Given the description of an element on the screen output the (x, y) to click on. 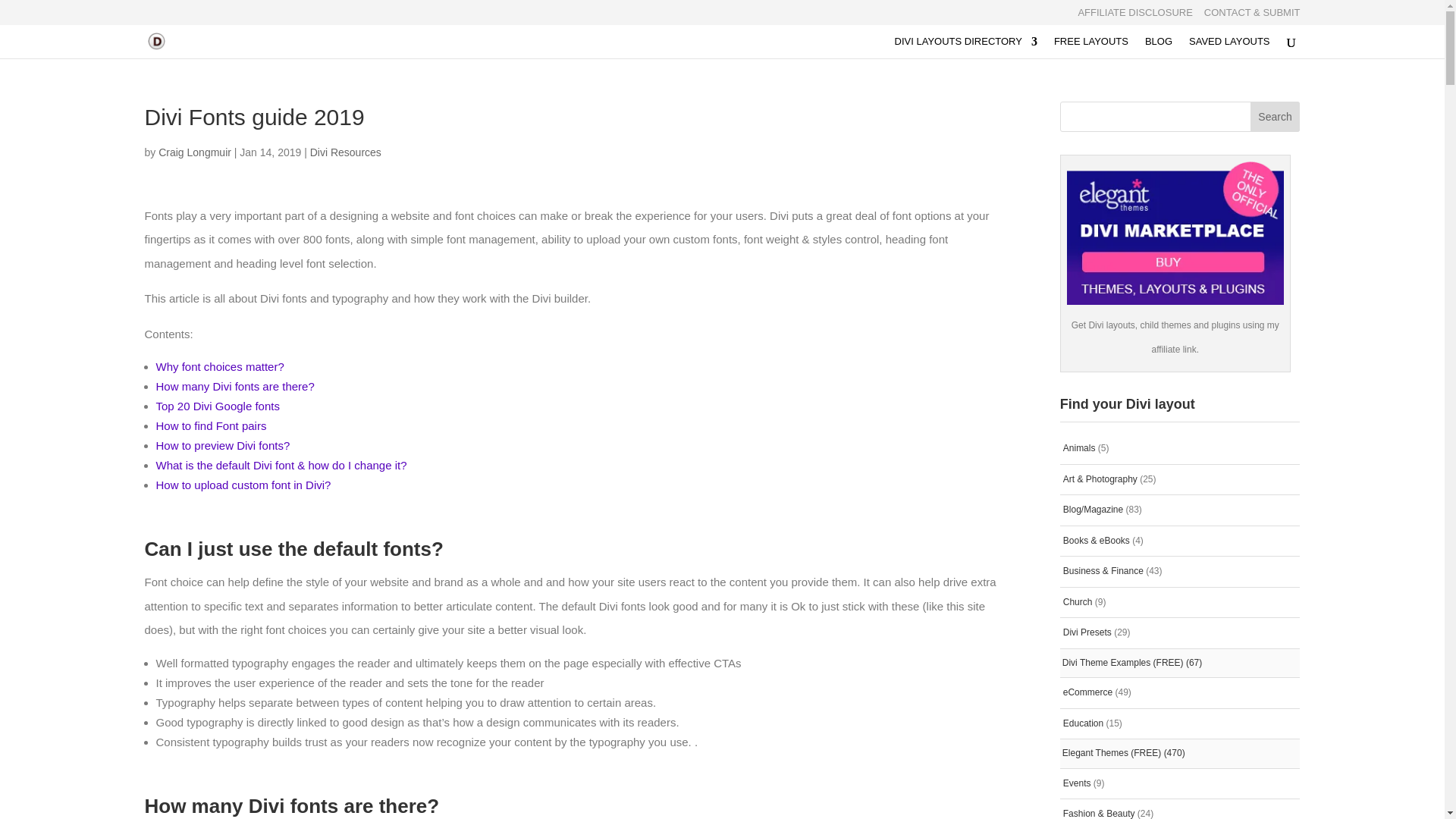
Posts by Craig Longmuir (194, 152)
DIVI LAYOUTS DIRECTORY (965, 47)
AFFILIATE DISCLOSURE (1134, 16)
Search (1275, 116)
